Given the description of an element on the screen output the (x, y) to click on. 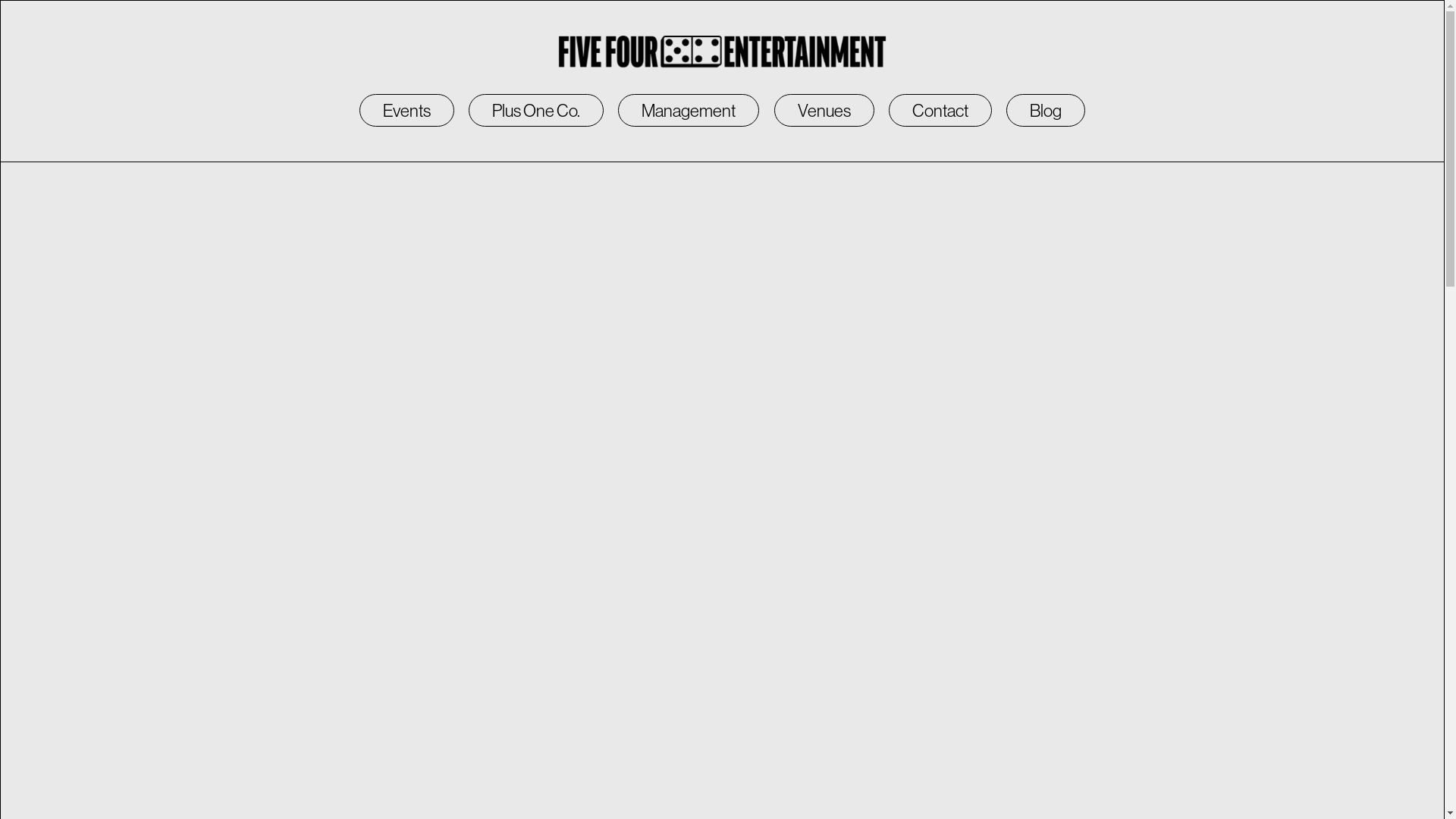
Plus One Co. Element type: text (535, 110)
Blog Element type: text (1045, 110)
Management Element type: text (688, 110)
Venues Element type: text (824, 110)
Events Element type: text (406, 110)
Contact Element type: text (939, 110)
